Given the description of an element on the screen output the (x, y) to click on. 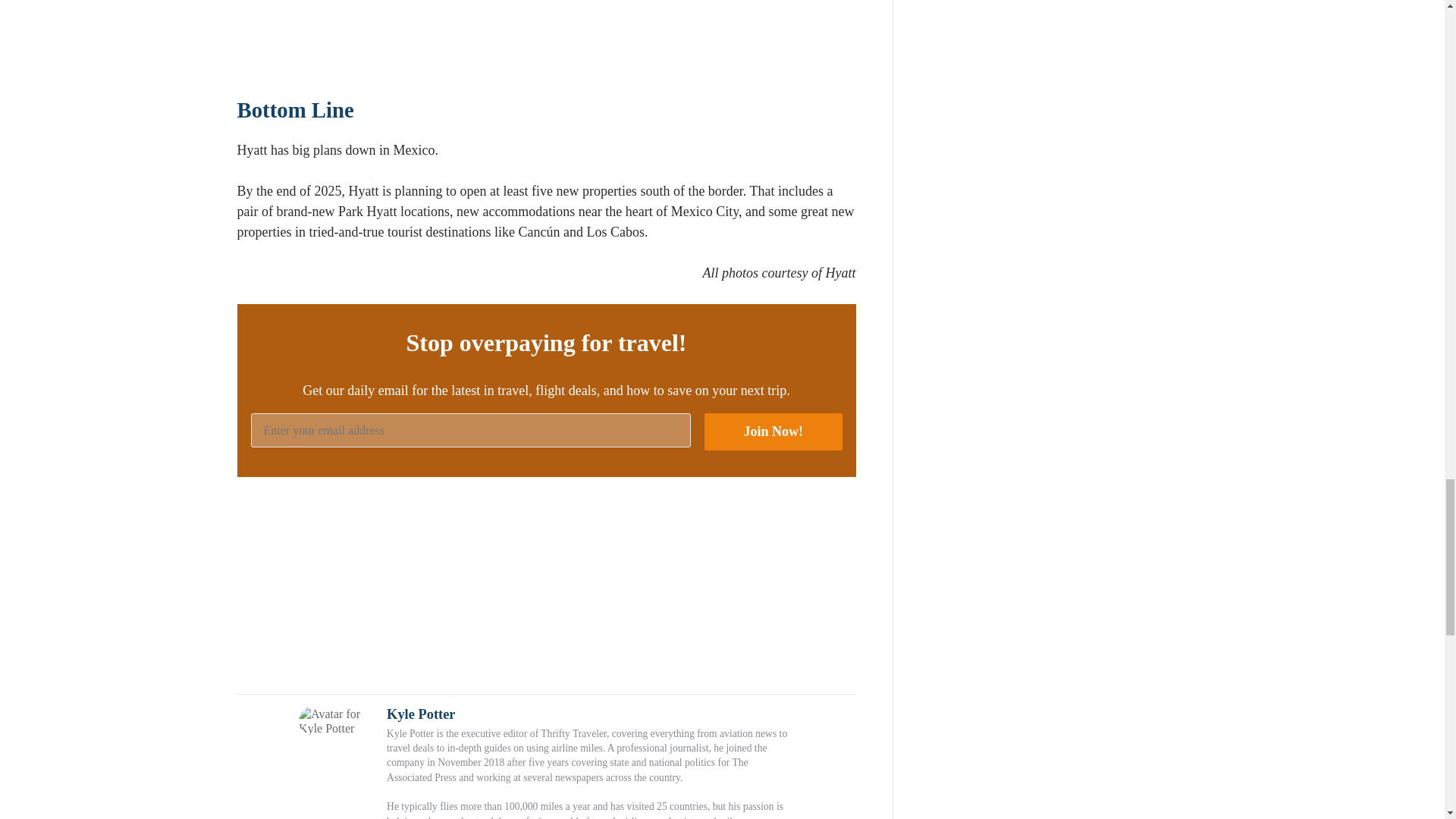
Gravatar for Kyle Potter (336, 720)
